Given the description of an element on the screen output the (x, y) to click on. 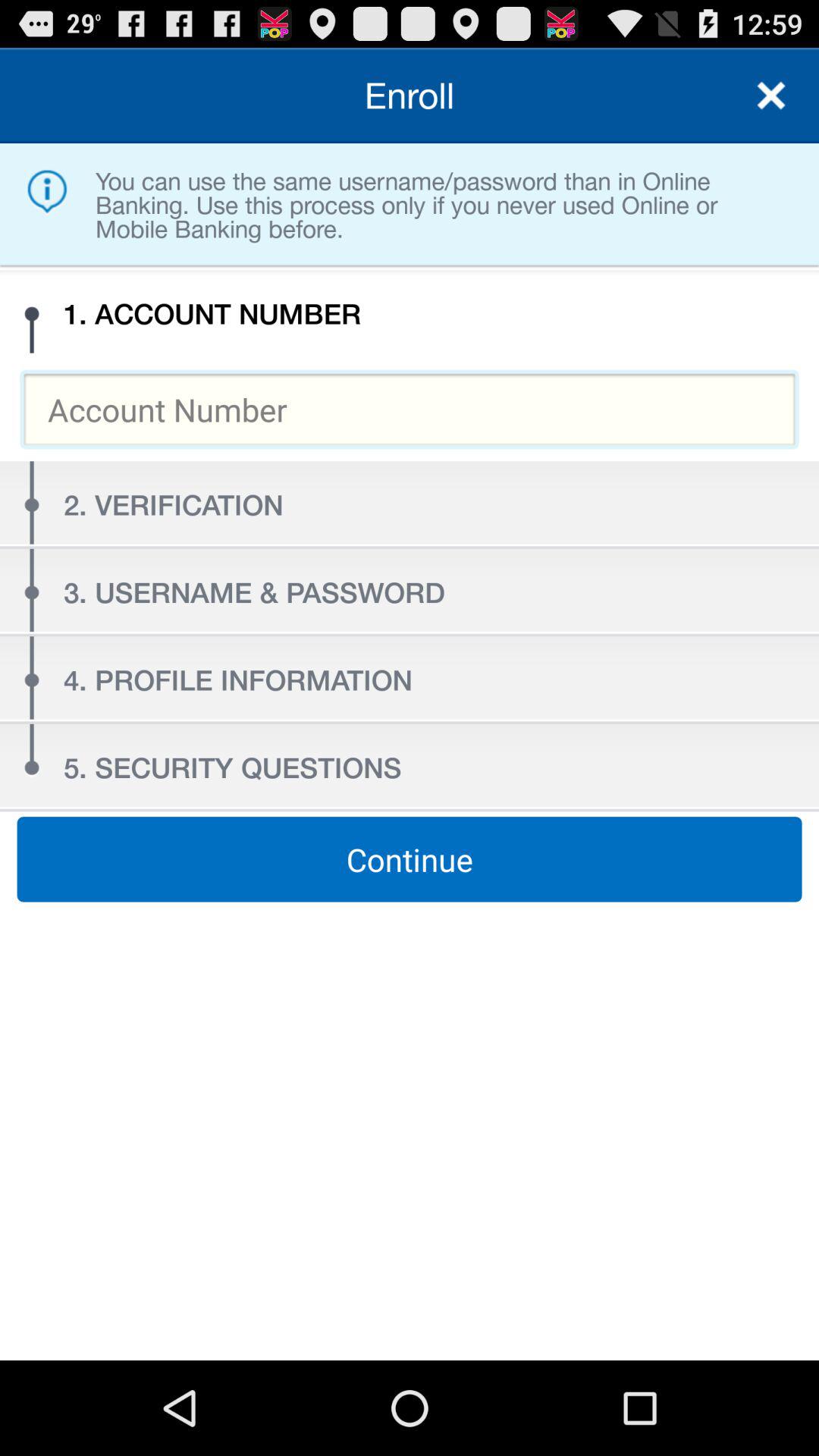
open item at the center (409, 859)
